Given the description of an element on the screen output the (x, y) to click on. 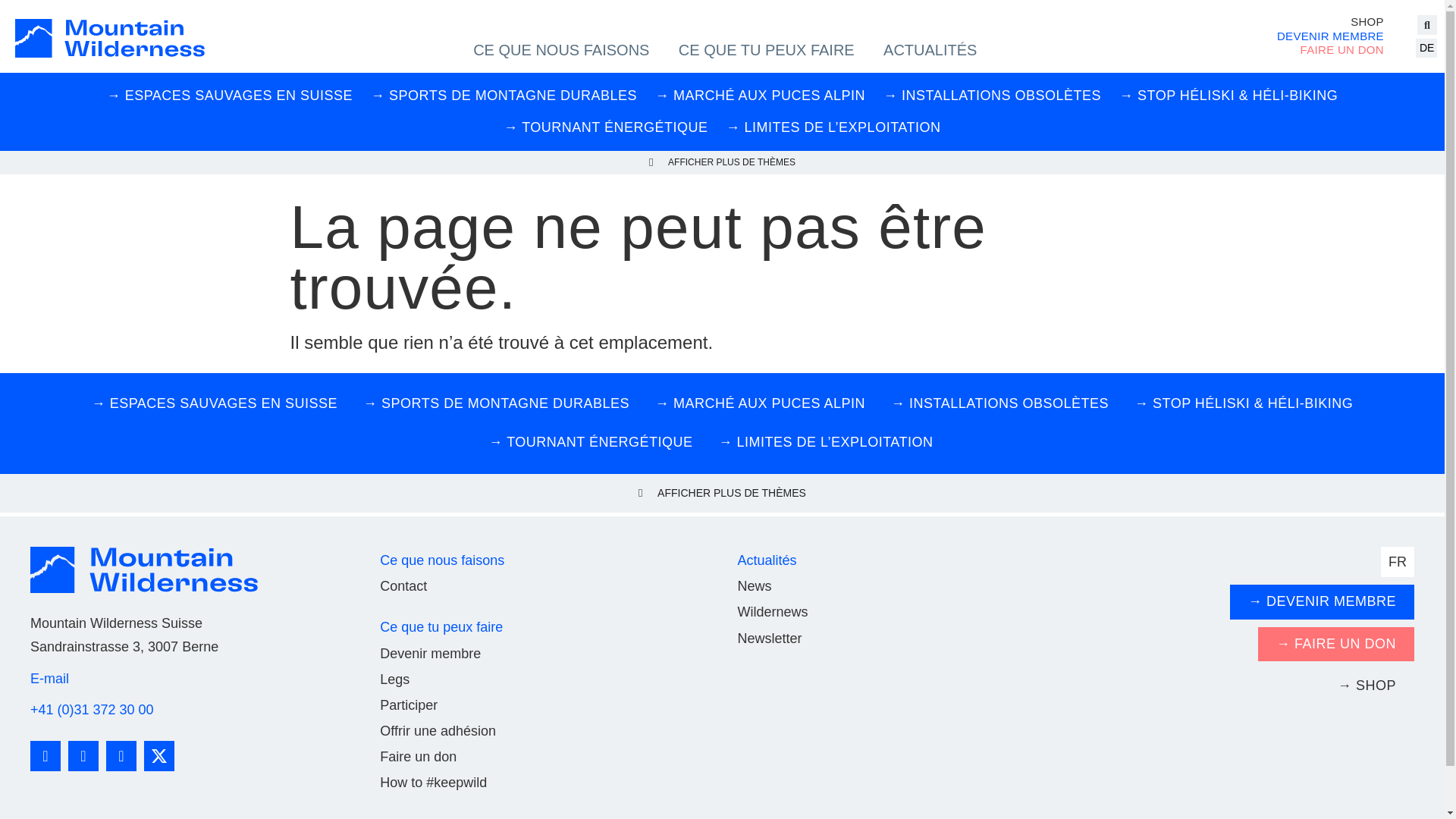
How to #keepwild Element type: text (432, 782)
DEVENIR MEMBRE Element type: text (1330, 35)
Faire un don Element type: text (417, 756)
CE QUE TU PEUX FAIRE Element type: text (766, 49)
Participer Element type: text (408, 704)
News Element type: text (754, 585)
FAIRE UN DON Element type: text (1330, 50)
FR Element type: text (1397, 561)
E-mail Element type: text (49, 678)
CE QUE NOUS FAISONS Element type: text (561, 49)
Ce que nous faisons Element type: text (441, 559)
Wildernews Element type: text (772, 611)
Ce que tu peux faire Element type: text (440, 626)
+41 (0)31 372 30 00 Element type: text (91, 709)
Newsletter Element type: text (769, 638)
Devenir membre Element type: text (429, 653)
Legs Element type: text (394, 679)
Contact Element type: text (402, 585)
SHOP Element type: text (1330, 22)
